Given the description of an element on the screen output the (x, y) to click on. 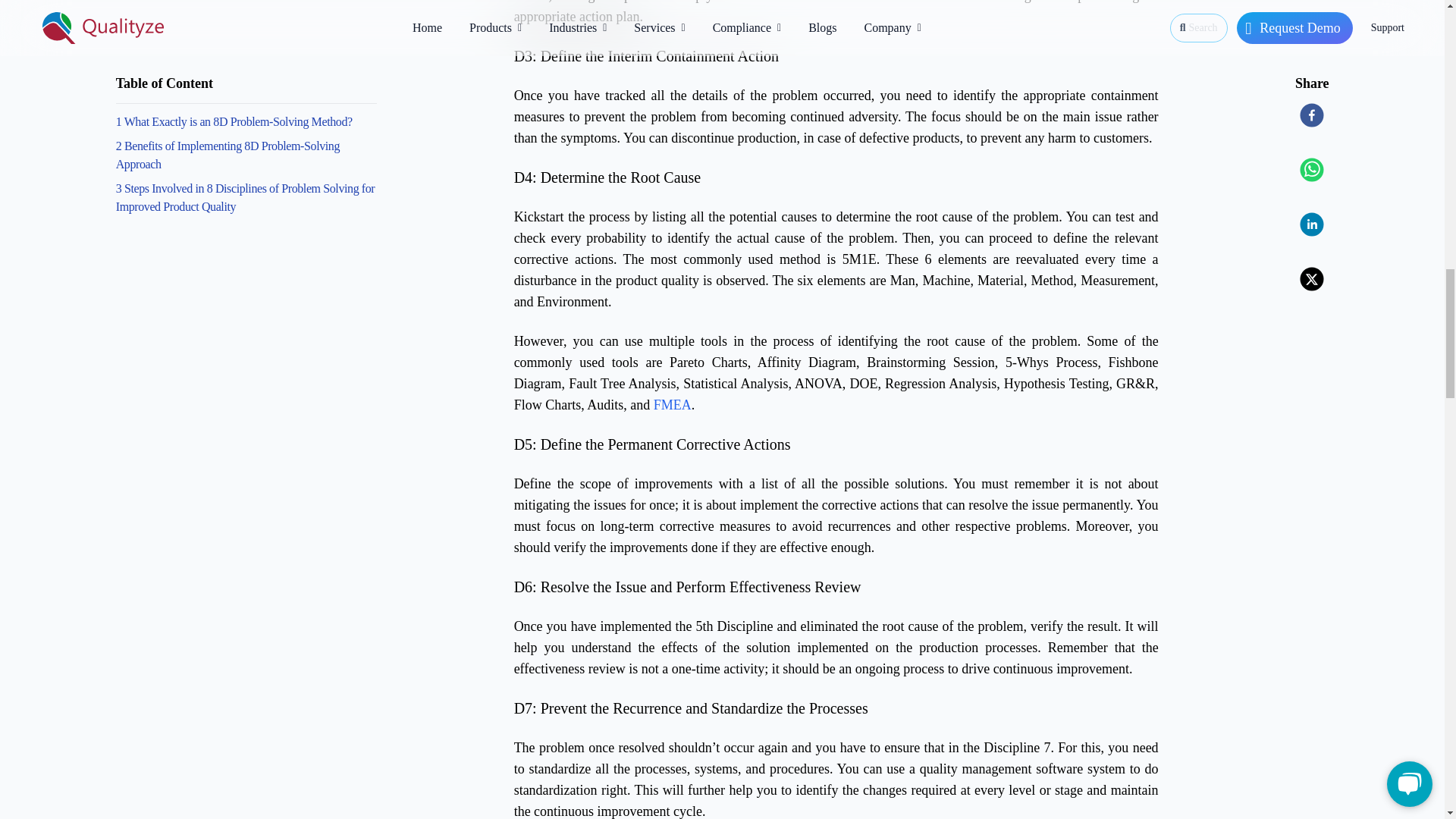
FMEA (672, 404)
